Given the description of an element on the screen output the (x, y) to click on. 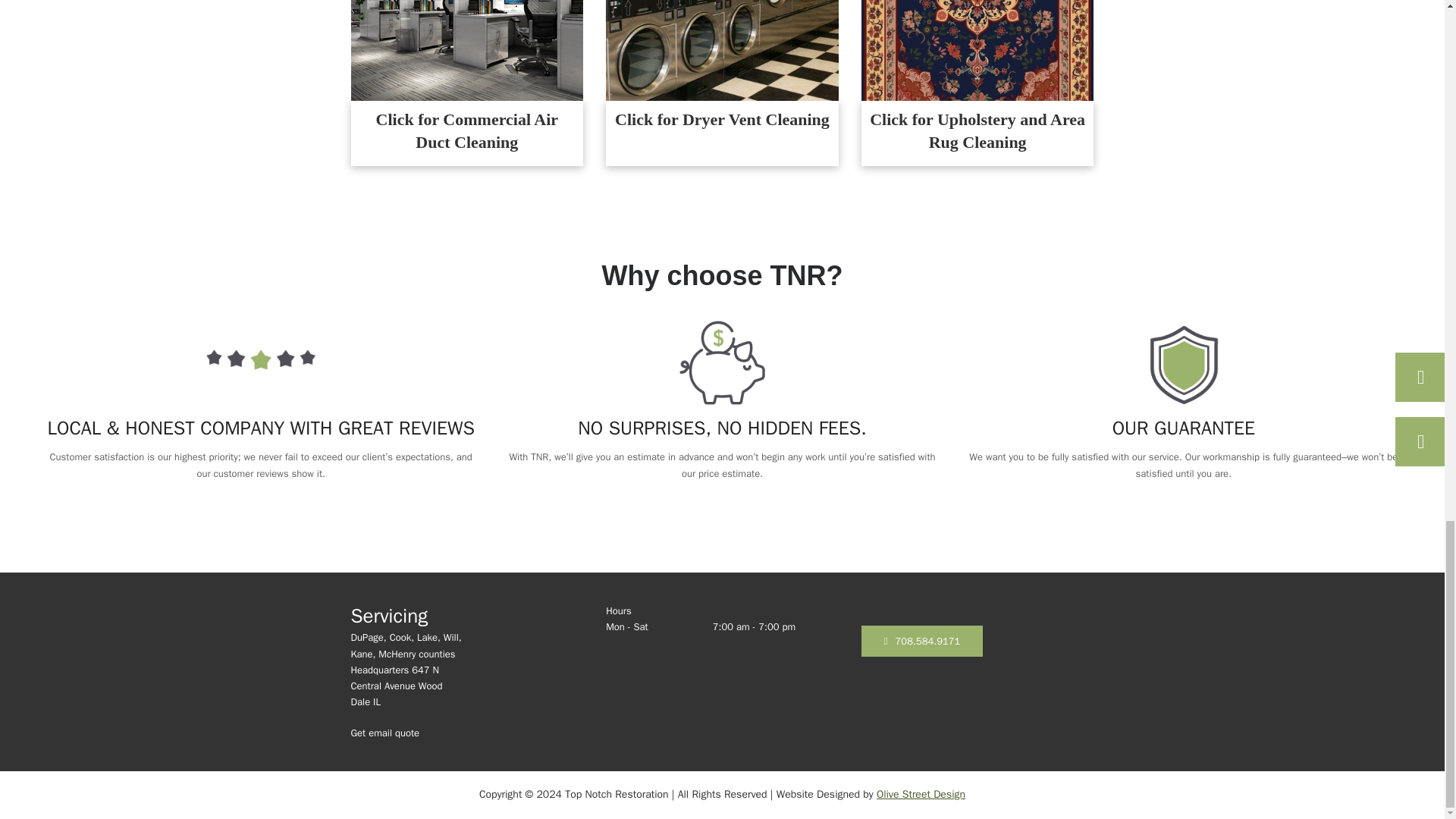
Guarantee (1183, 361)
708.584.9171 (922, 640)
Olive Street Design (920, 793)
5-star (260, 361)
Servicing (389, 615)
dryer-vent-cleaning (721, 50)
Piggy (722, 361)
Get email quote (407, 732)
